Given the description of an element on the screen output the (x, y) to click on. 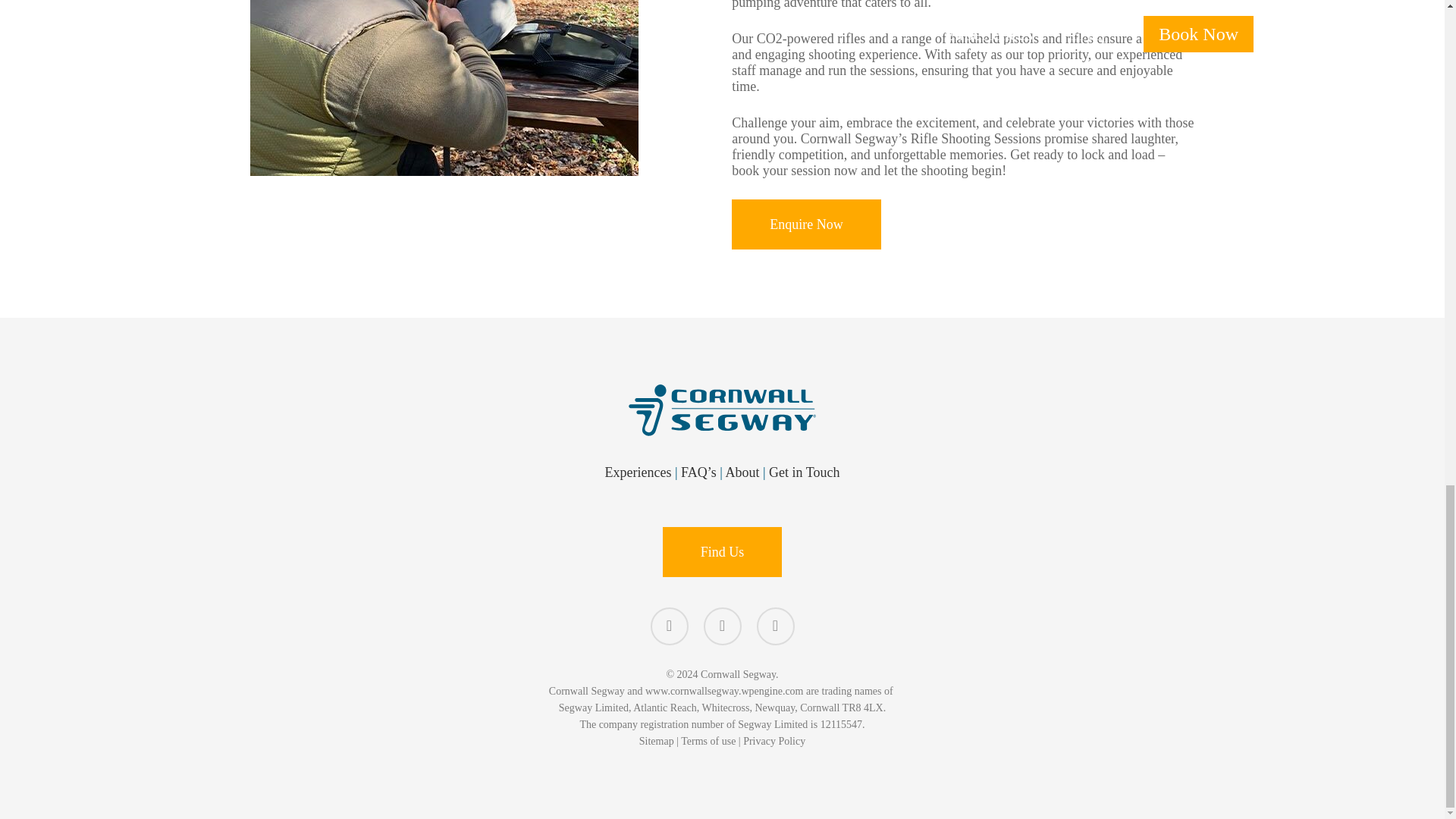
instagram (775, 626)
Sitemap (656, 740)
About (741, 472)
Get in Touch (804, 472)
youtube (722, 626)
Find Us (722, 552)
Terms of use (708, 740)
Privacy Policy (773, 740)
Experiences (638, 472)
rifle-shooting-in-cornwall (444, 88)
Enquire Now (806, 224)
facebook (669, 626)
